Given the description of an element on the screen output the (x, y) to click on. 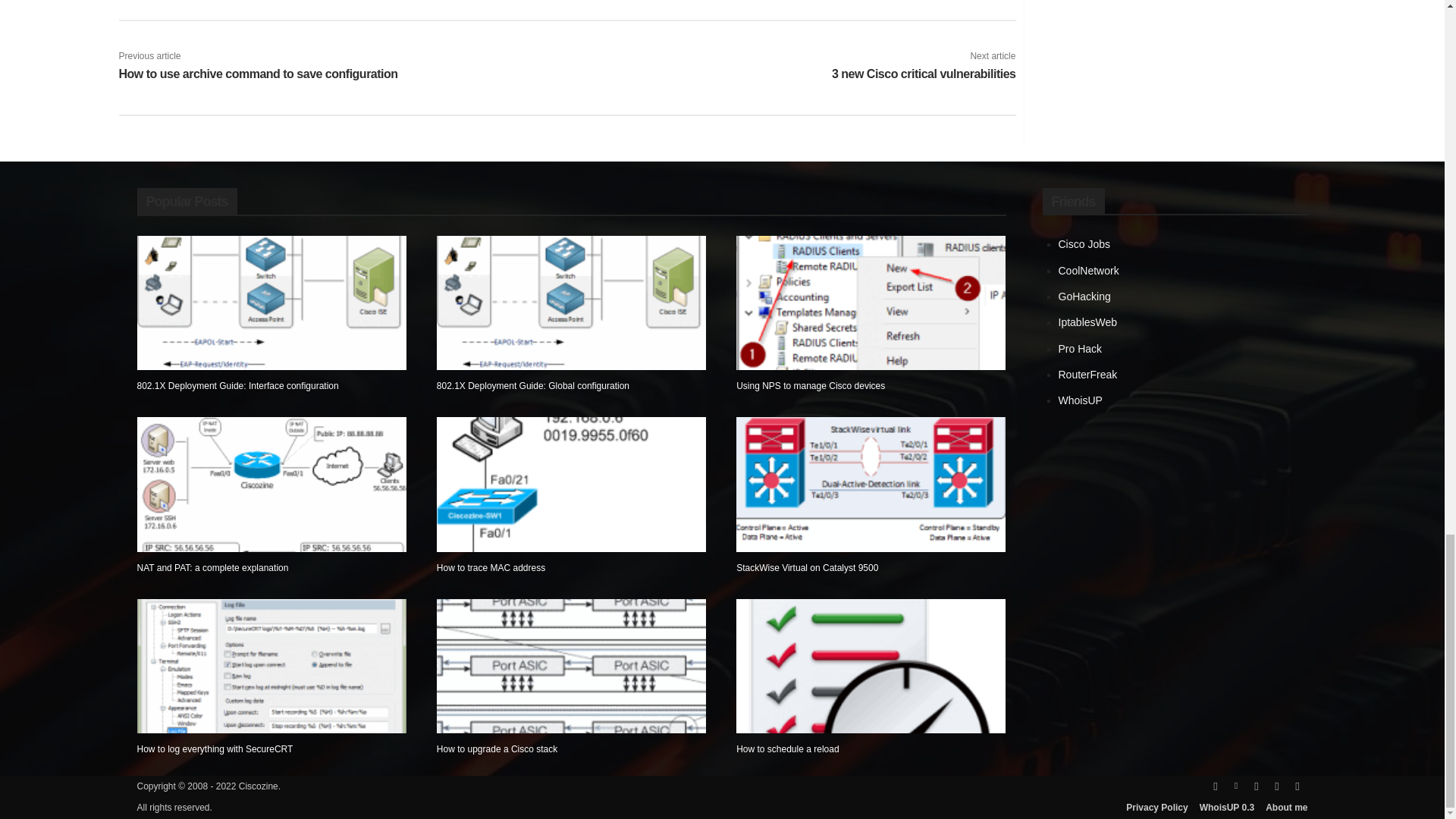
802.1X Deployment Guide: Interface configuration (236, 385)
802.1X Deployment Guide: Interface configuration (271, 303)
How to use archive command to save configuration (257, 73)
3 new Cisco critical vulnerabilities (923, 73)
